Given the description of an element on the screen output the (x, y) to click on. 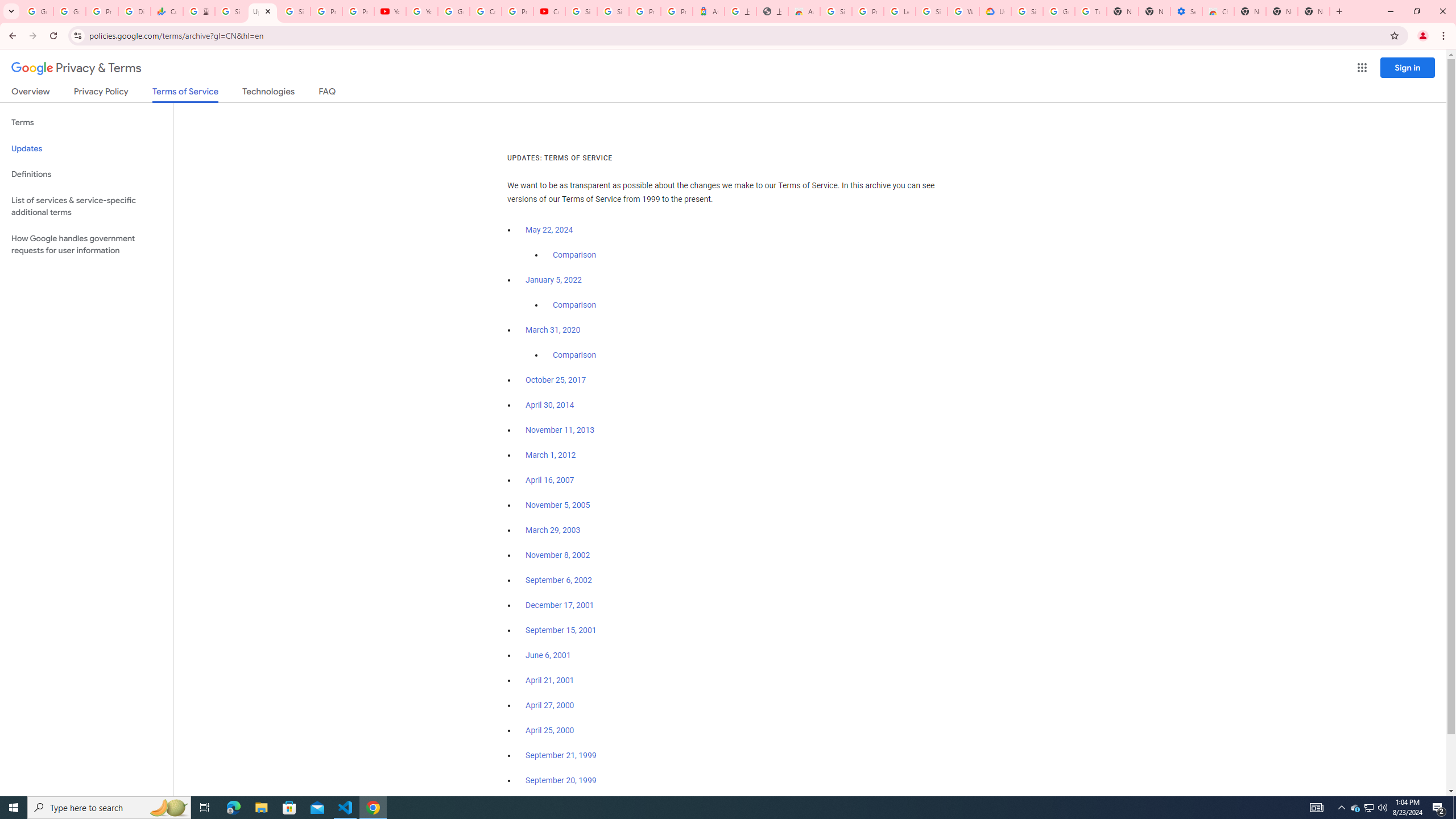
November 5, 2005 (557, 505)
Sign in - Google Accounts (1027, 11)
June 6, 2001 (547, 655)
Privacy Checkup (358, 11)
Settings - Accessibility (1185, 11)
April 21, 2001 (550, 679)
April 30, 2014 (550, 405)
